Given the description of an element on the screen output the (x, y) to click on. 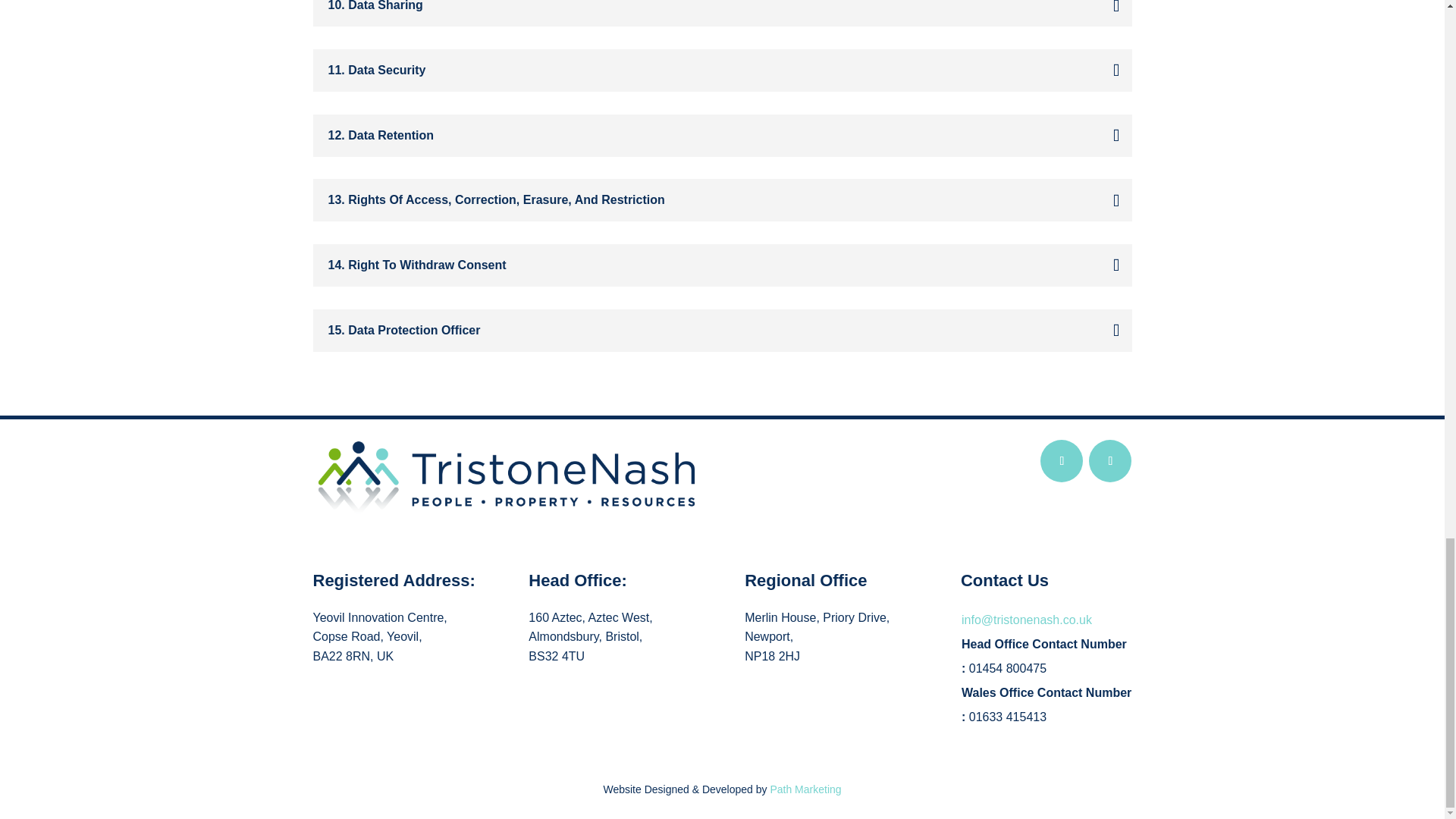
TristoneNash-LOGO-C-on-white-RGB (505, 477)
Follow on X (1062, 460)
Follow on LinkedIn (1110, 460)
